Given the description of an element on the screen output the (x, y) to click on. 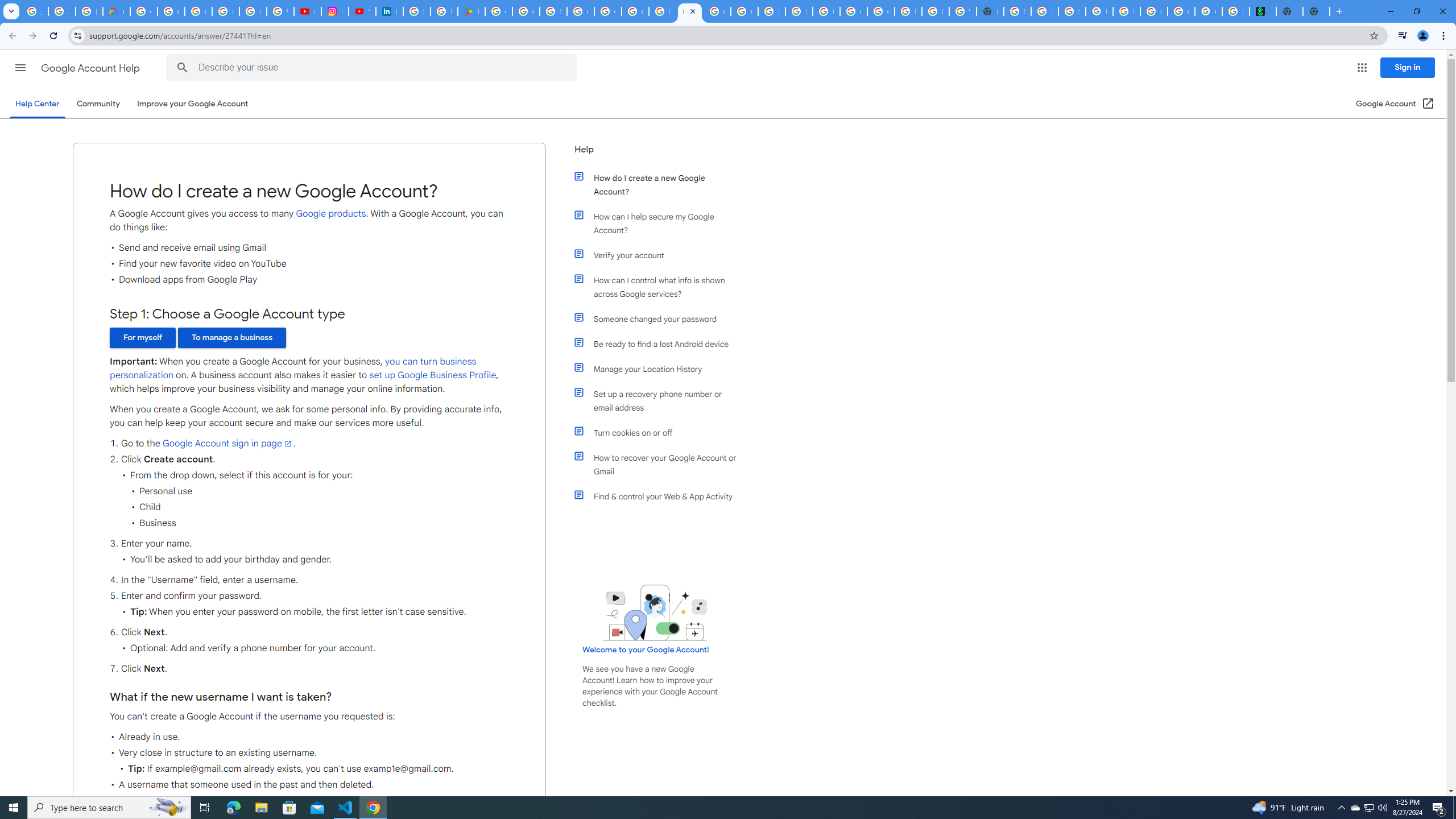
How do I create a new Google Account? - Google Account Help (662, 11)
Find & control your Web & App Activity (661, 496)
How do I create a new Google Account? (661, 184)
Main menu (20, 67)
How do I create a new Google Account? - Google Account Help (690, 11)
New Tab (1316, 11)
Last Shelter: Survival - Apps on Google Play (471, 11)
